Given the description of an element on the screen output the (x, y) to click on. 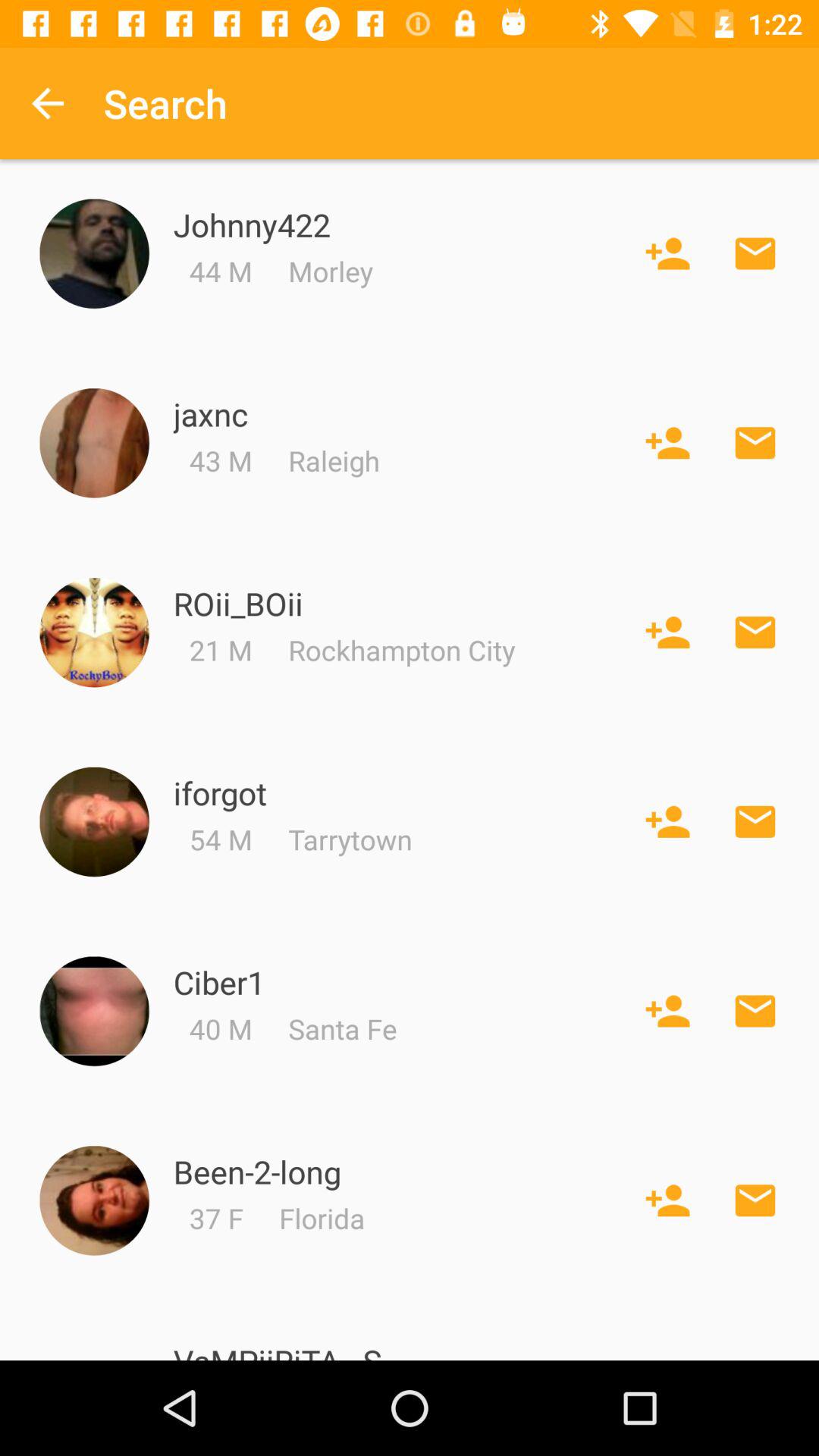
open profile picture (94, 253)
